Given the description of an element on the screen output the (x, y) to click on. 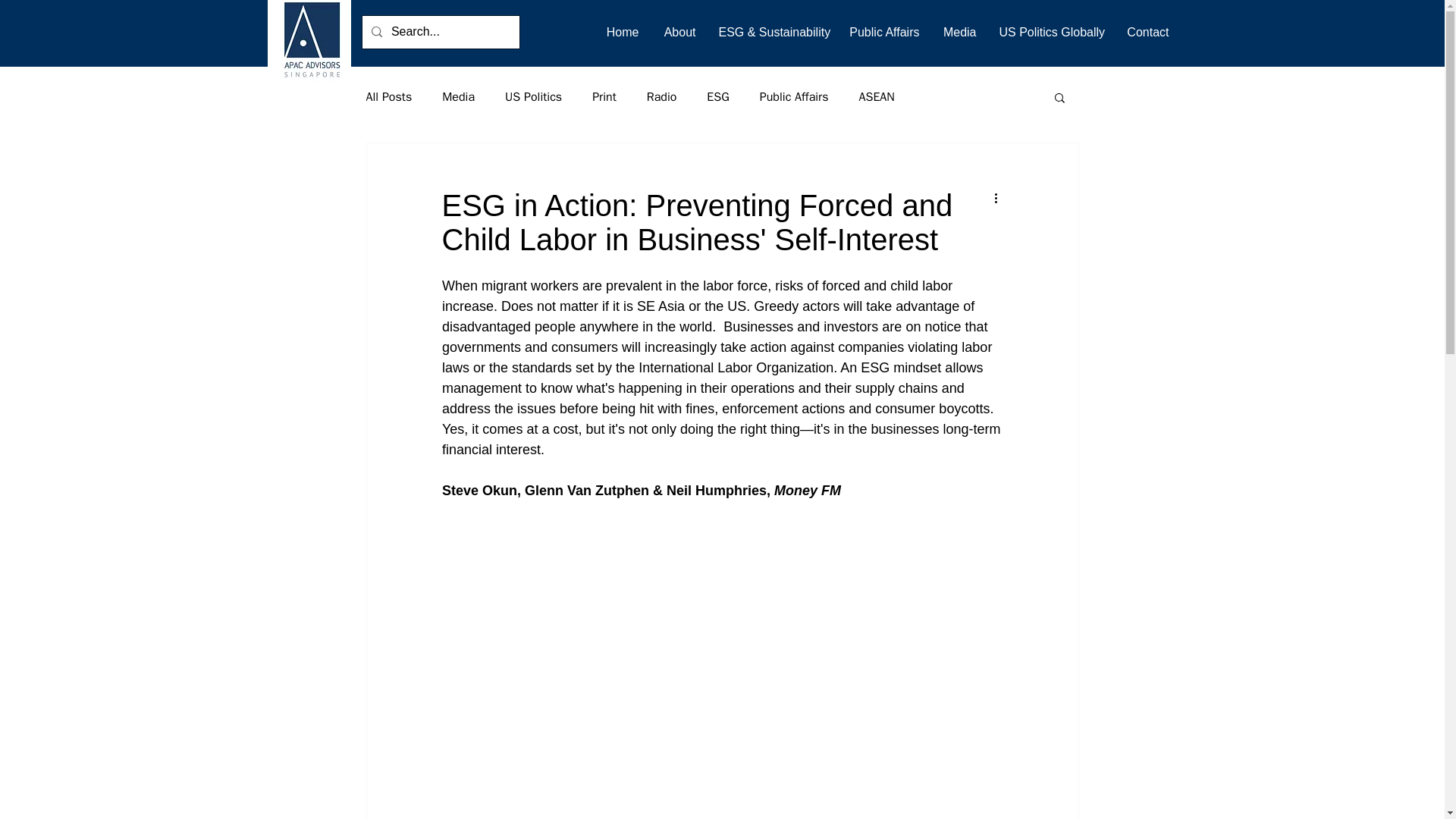
Media (458, 97)
US Politics (533, 97)
Home (620, 32)
Contact (1147, 32)
ESG (717, 97)
US Politics Globally (1051, 32)
Print (603, 97)
All Posts (388, 97)
Radio (661, 97)
Public Affairs (794, 97)
Public Affairs (883, 32)
Media (959, 32)
ASEAN (877, 97)
About (678, 32)
